Given the description of an element on the screen output the (x, y) to click on. 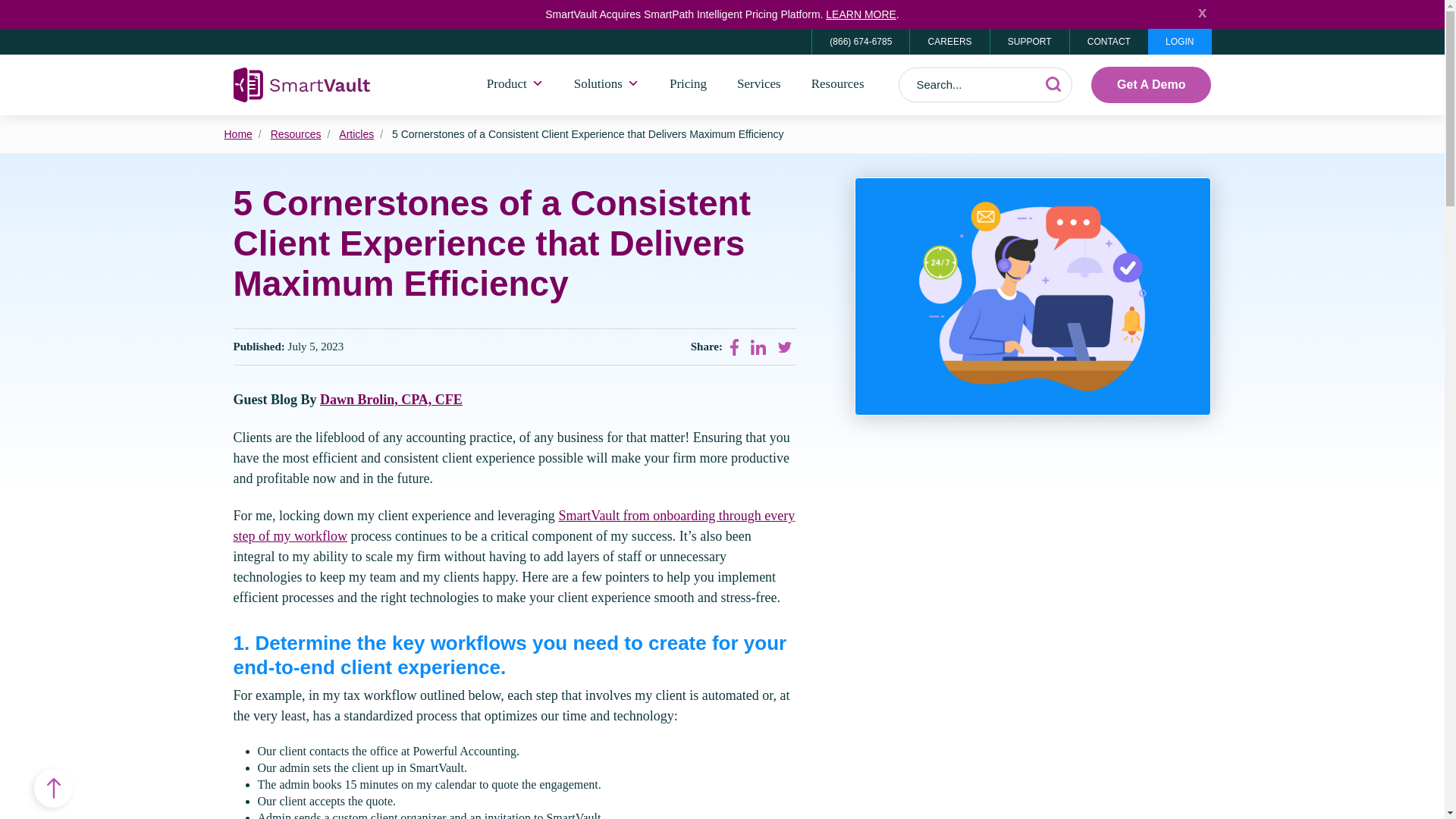
Login to My.SmartVault.com (1179, 41)
CAREERS (948, 41)
Product (515, 84)
Contact us (1108, 41)
CONTACT (1108, 41)
LEARN MORE (860, 14)
Check out our Support resources (1029, 41)
Join our team! (948, 41)
Solutions (606, 84)
LOGIN (1179, 41)
SUPPORT (1029, 41)
Search for: (985, 84)
